Given the description of an element on the screen output the (x, y) to click on. 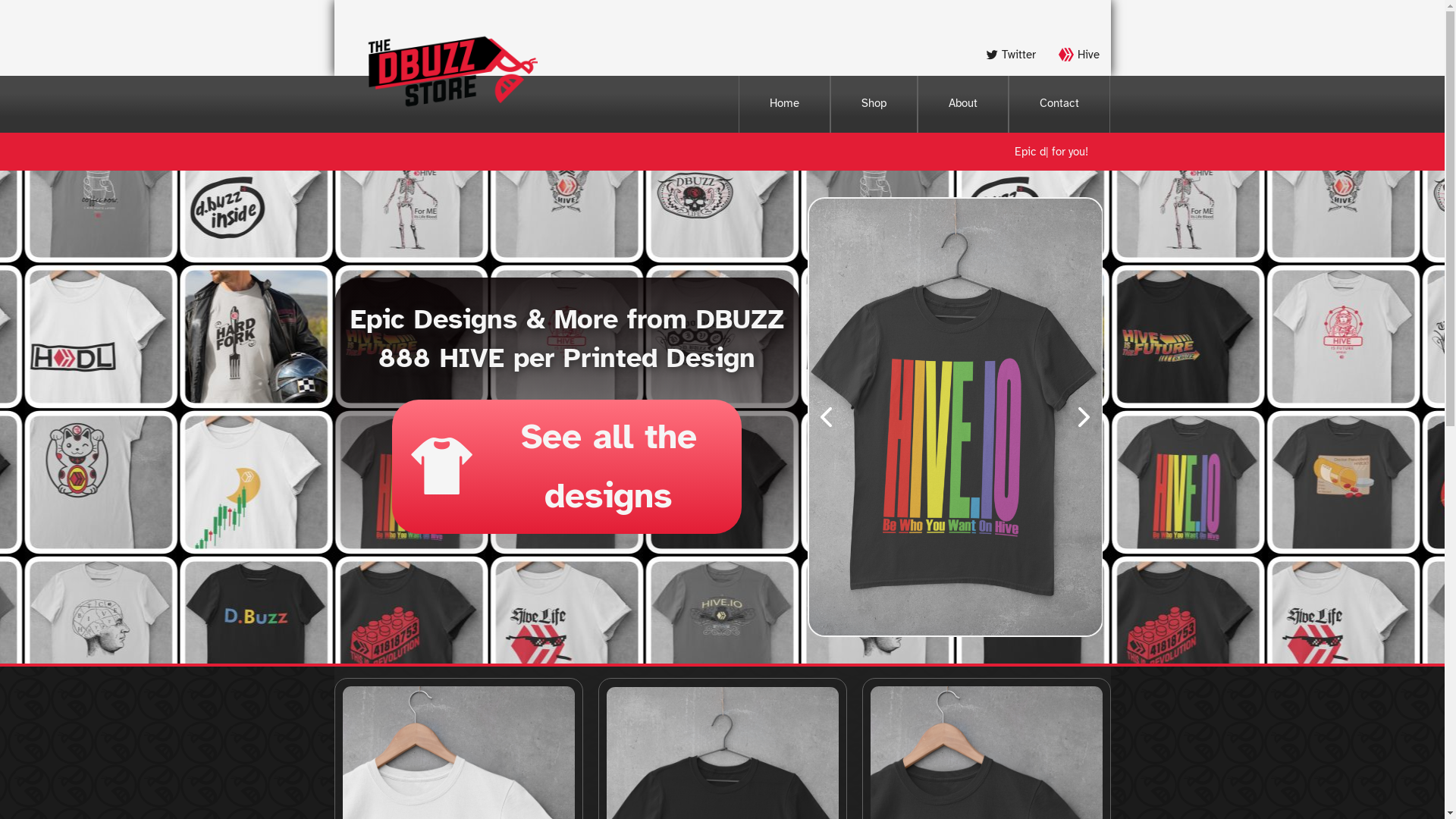
Home Element type: text (784, 103)
Hive Element type: text (1078, 54)
See all the designs Element type: text (566, 466)
About Element type: text (962, 103)
Contact Element type: text (1059, 103)
Twitter Element type: text (1011, 54)
Shop Element type: text (873, 103)
